Given the description of an element on the screen output the (x, y) to click on. 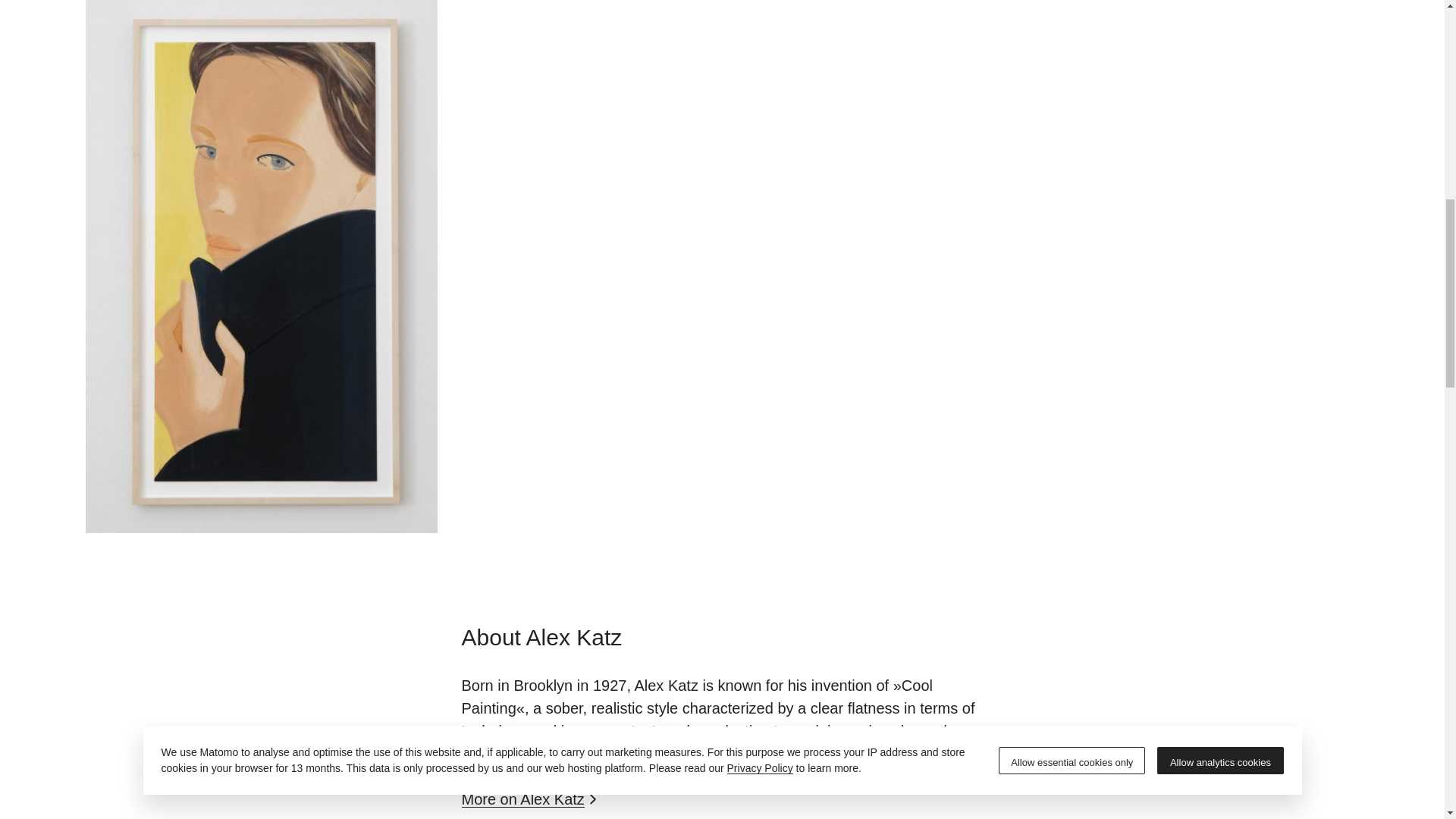
More on Alex Katz (530, 799)
